Given the description of an element on the screen output the (x, y) to click on. 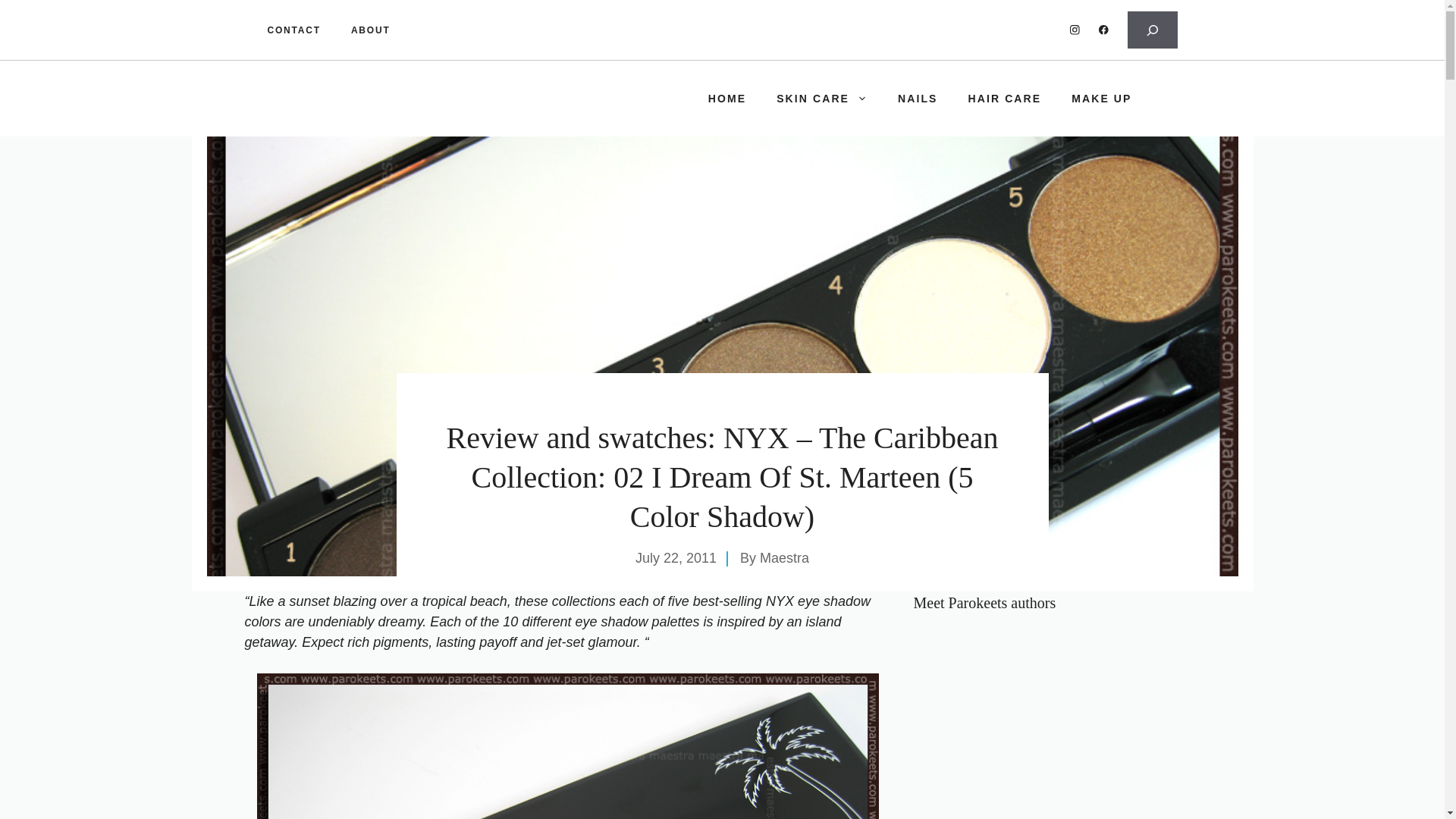
CONTACT (293, 29)
ABOUT (370, 29)
SKIN CARE (821, 98)
NAILS (917, 98)
Maestra (784, 557)
HAIR CARE (1005, 98)
HOME (727, 98)
MAKE UP (1102, 98)
